Given the description of an element on the screen output the (x, y) to click on. 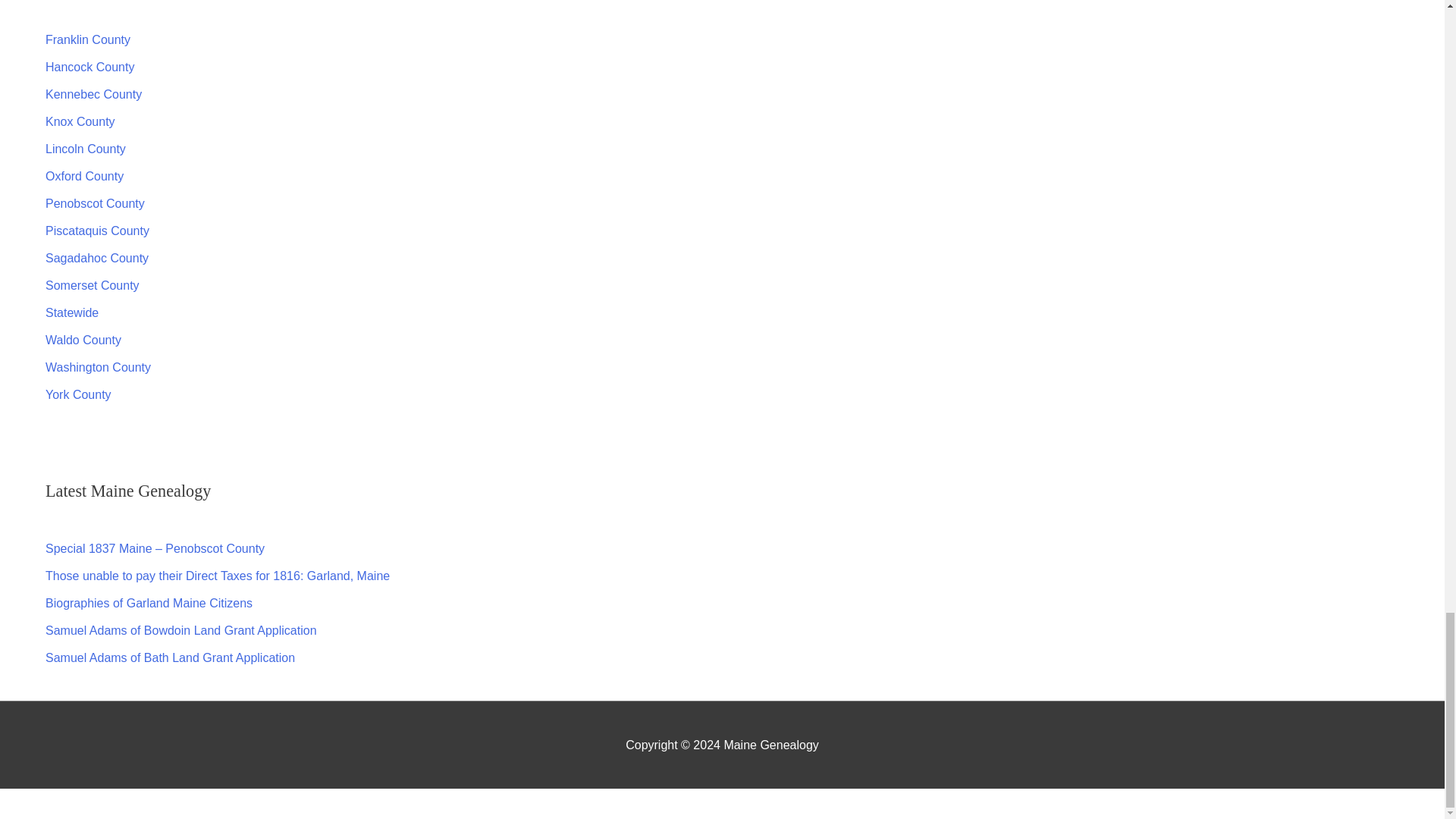
Cumberland County (98, 11)
Franklin County (88, 39)
